Given the description of an element on the screen output the (x, y) to click on. 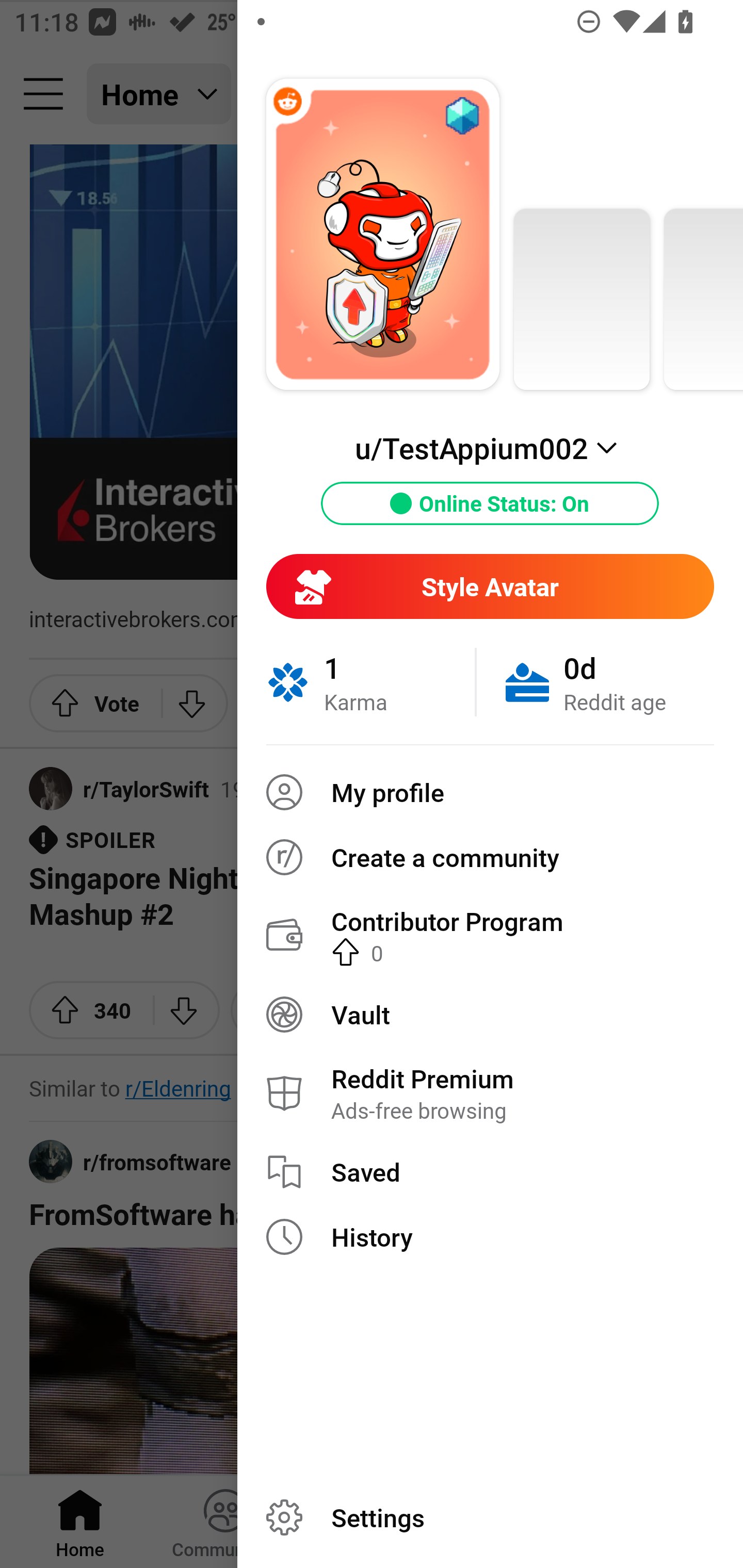
u/TestAppium002 (489, 447)
Online Status: On (489, 503)
Style Avatar (489, 586)
1 Karma 1 Karma (369, 681)
My profile (490, 792)
Create a community (490, 856)
Contributor Program Contributor Program 0 (490, 935)
Vault (490, 1014)
Saved (490, 1171)
History (490, 1237)
Settings (490, 1517)
